Given the description of an element on the screen output the (x, y) to click on. 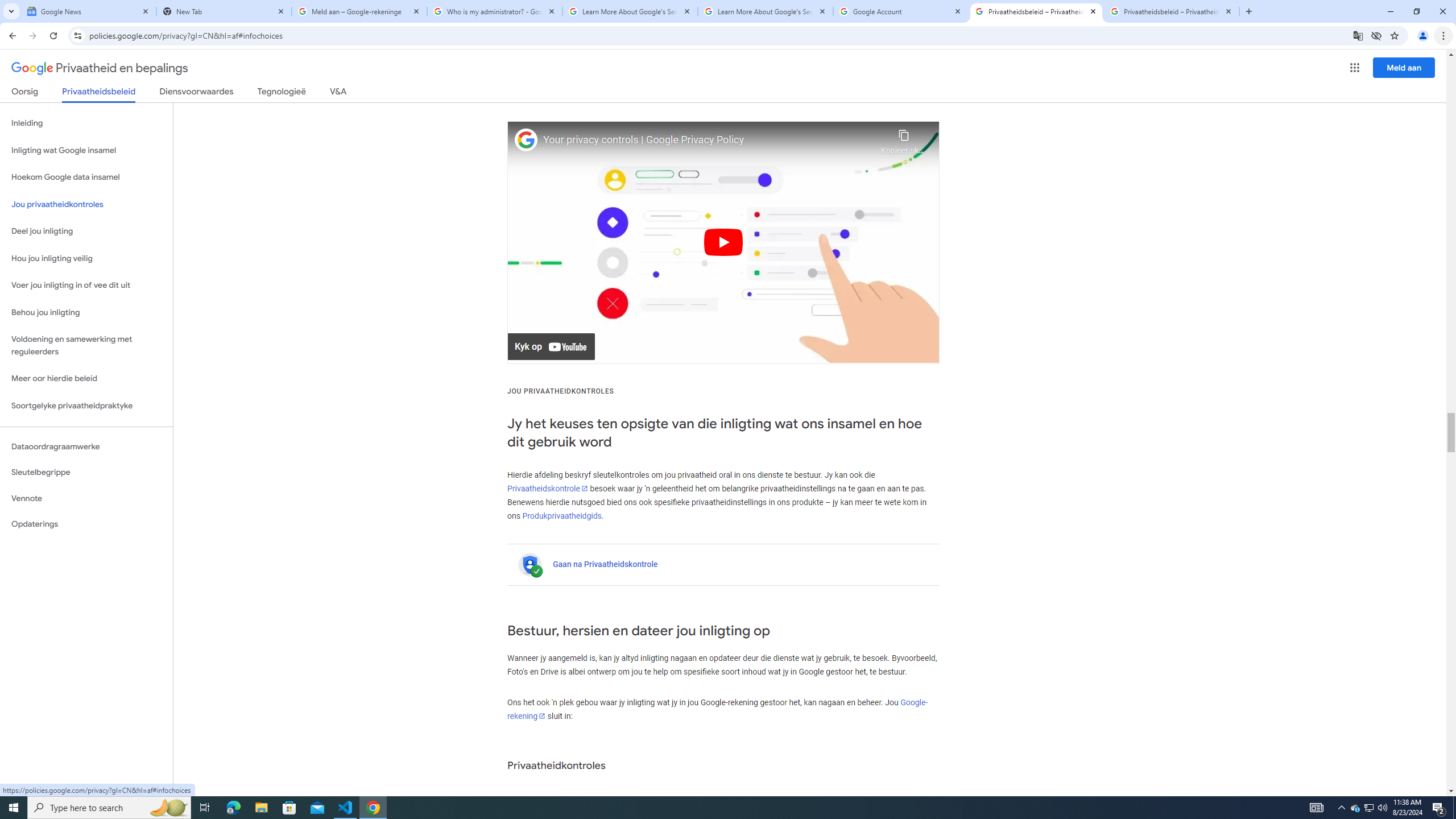
Google News (88, 11)
